Given the description of an element on the screen output the (x, y) to click on. 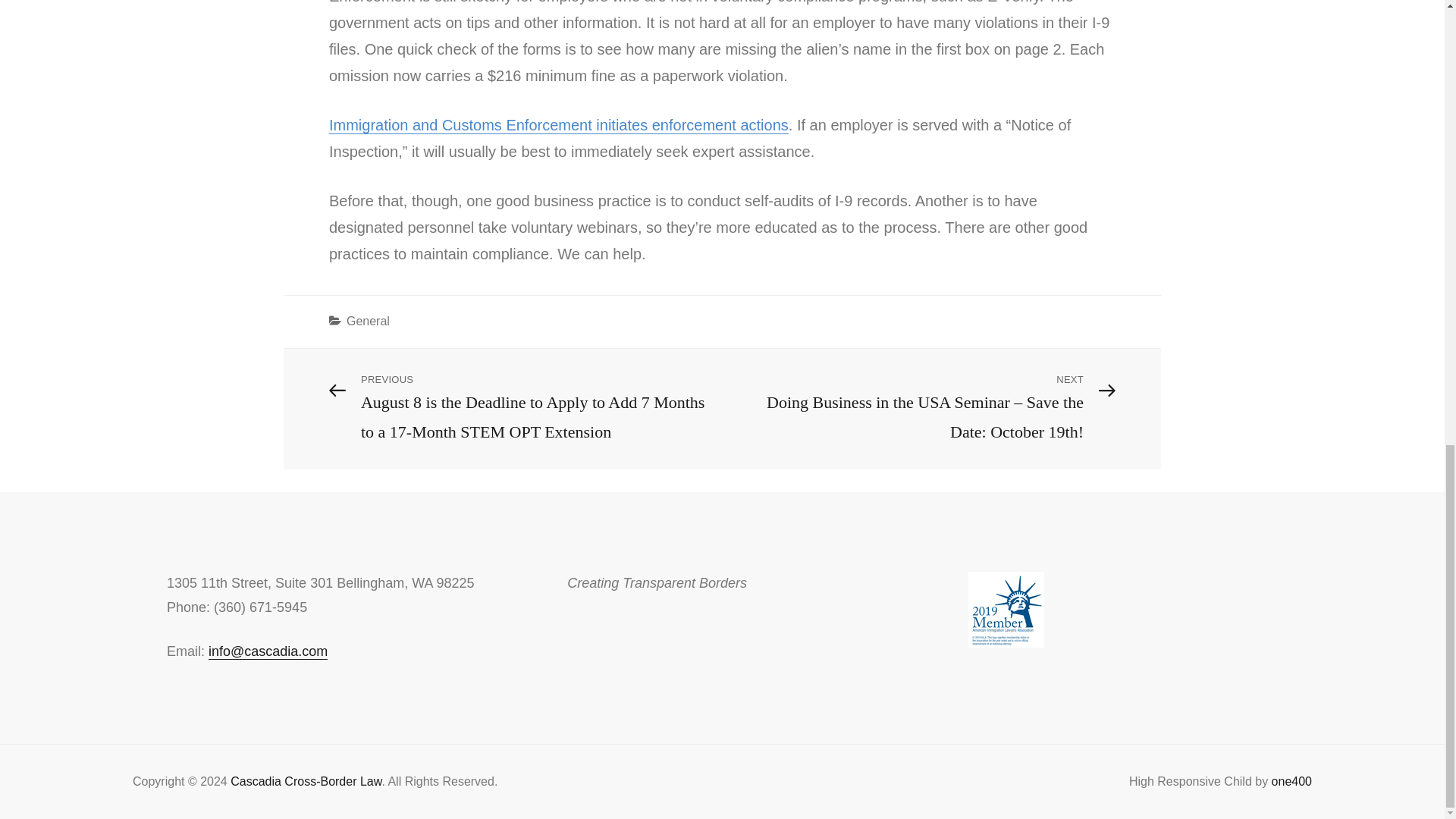
General (368, 320)
